Given the description of an element on the screen output the (x, y) to click on. 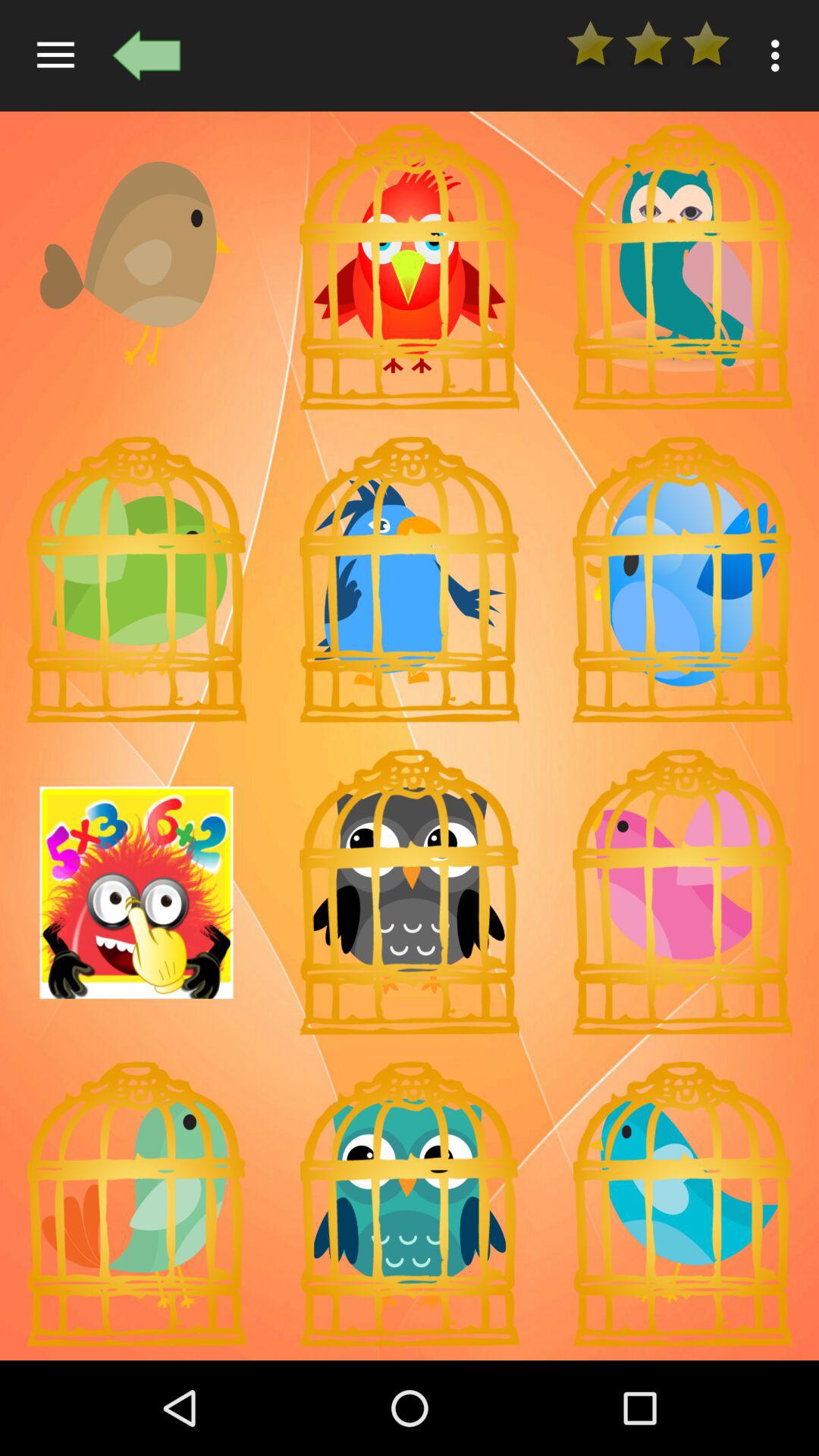
choose the option (682, 267)
